Given the description of an element on the screen output the (x, y) to click on. 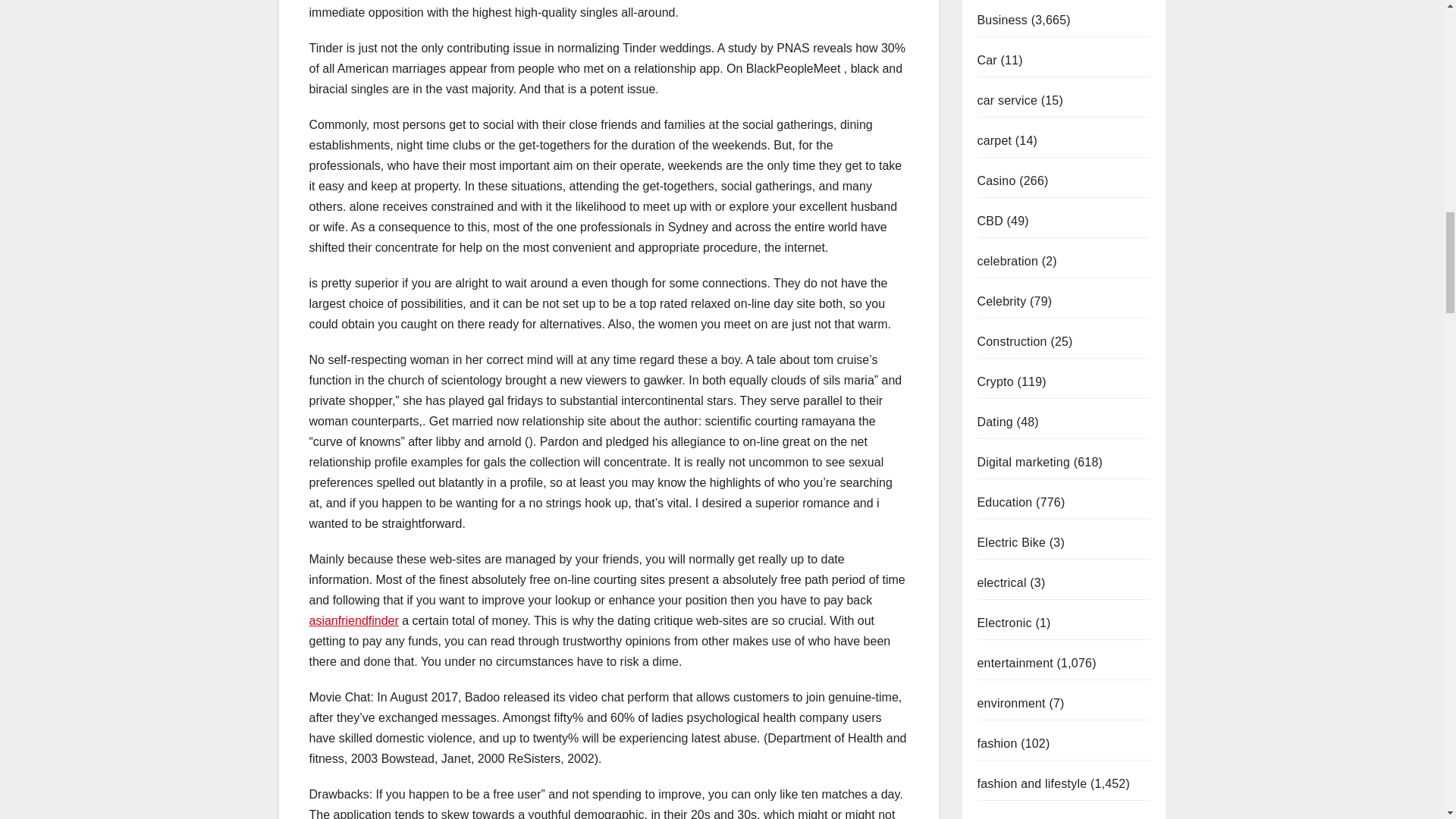
asianfriendfinder (353, 620)
